Given the description of an element on the screen output the (x, y) to click on. 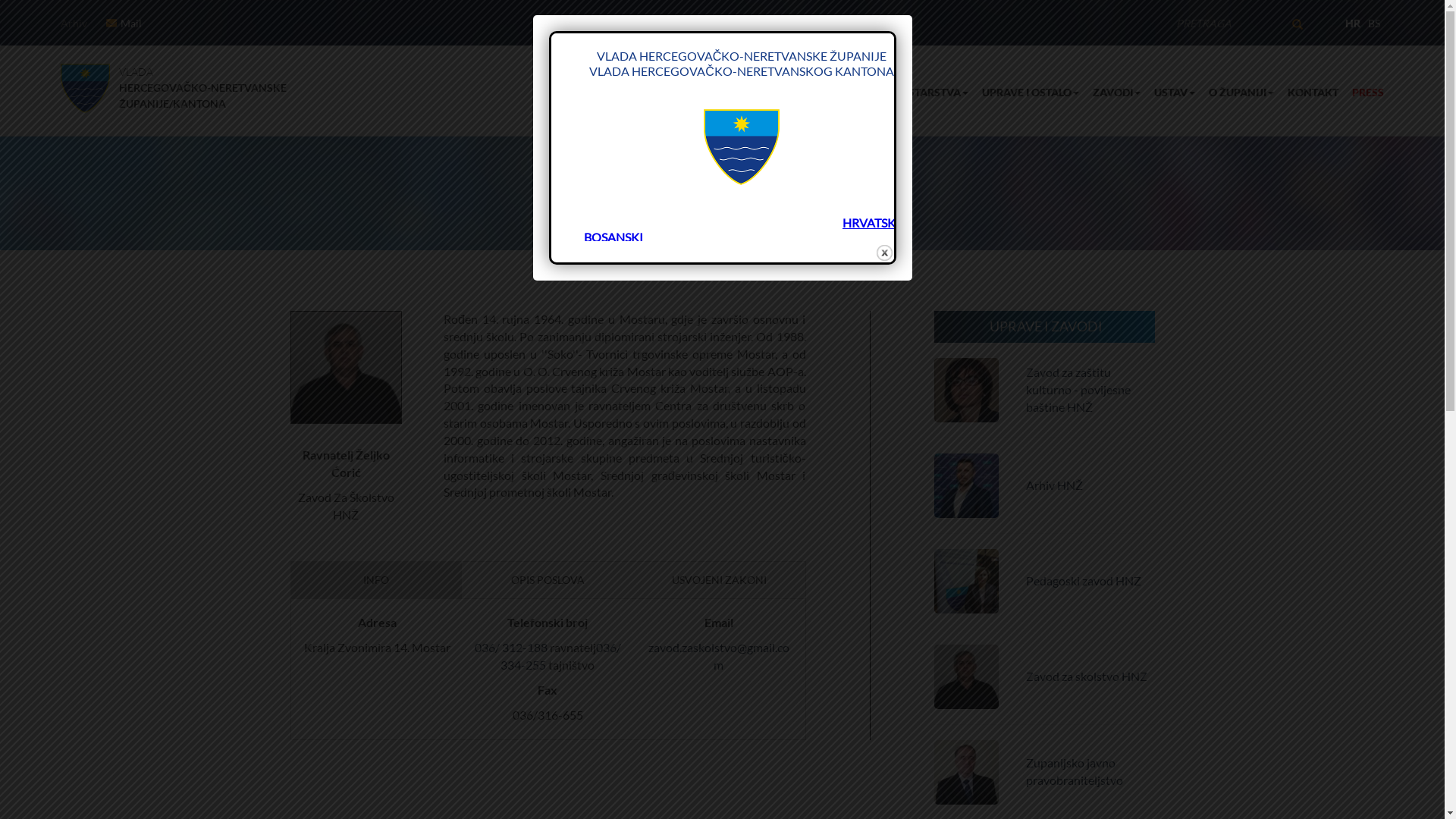
MINISTARSTVA Element type: text (919, 91)
BS Element type: text (1374, 22)
USVOJENI ZAKONI Element type: text (718, 579)
OPIS POSLOVA Element type: text (547, 579)
Arhiv Element type: text (73, 22)
zavod.zaskolstvo@gmail.com Element type: text (718, 655)
Zupanijsko javno pravobraniteljstvo Element type: text (1074, 771)
036/ 334-255 Element type: text (560, 655)
USTAV Element type: text (1167, 91)
close Element type: text (884, 252)
PRESS Element type: text (1360, 91)
ZAVODI Element type: text (1109, 91)
Pretraga Element type: text (1314, 30)
INFO Element type: text (376, 579)
VLADA Element type: text (841, 91)
HR Element type: text (1352, 22)
036/ 312-188 Element type: text (510, 647)
Zavod za skolstvo HNZ Element type: text (1086, 675)
Mail Element type: text (130, 22)
VIJESTI Element type: text (788, 91)
UPRAVE I OSTALO Element type: text (1023, 91)
KONTAKT Element type: text (1306, 91)
Pedagoski zavod HNZ Element type: text (1083, 580)
